Given the description of an element on the screen output the (x, y) to click on. 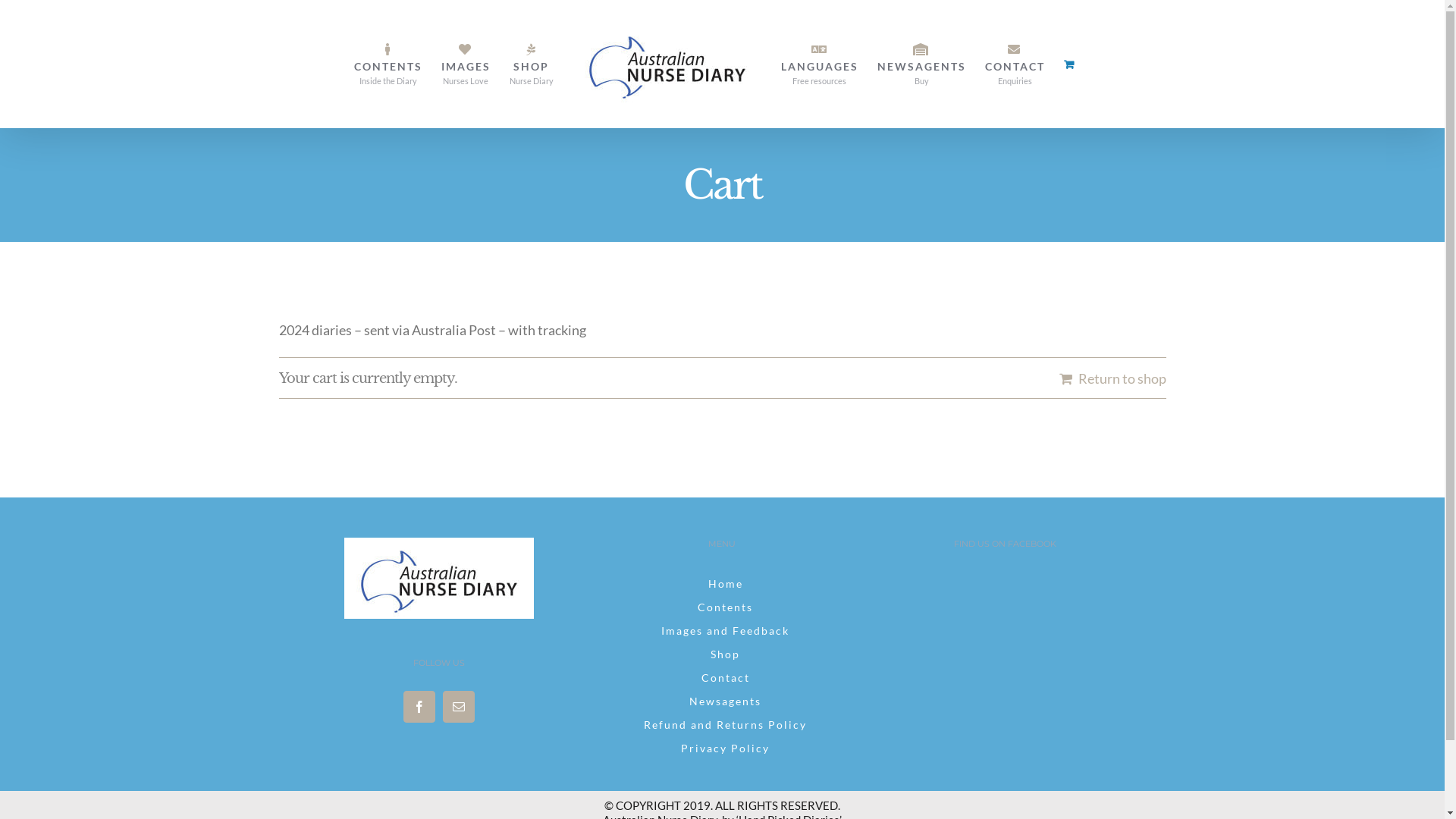
Facebook Element type: hover (419, 705)
Shop Element type: text (721, 654)
Home Element type: text (721, 583)
IMAGES
Nurses Love Element type: text (465, 63)
Contact Element type: text (721, 677)
SHOP
Nurse Diary Element type: text (531, 63)
CONTENTS
Inside the Diary Element type: text (387, 63)
Privacy Policy Element type: text (721, 748)
LANGUAGES
Free resources Element type: text (819, 63)
Images and Feedback Element type: text (721, 630)
NEWSAGENTS
Buy Element type: text (920, 63)
Newsagents Element type: text (721, 701)
Refund and Returns Policy Element type: text (721, 724)
Contents Element type: text (721, 607)
CONTACT
Enquiries Element type: text (1014, 63)
Return to shop Element type: text (1111, 378)
Mail Element type: hover (458, 705)
